Given the description of an element on the screen output the (x, y) to click on. 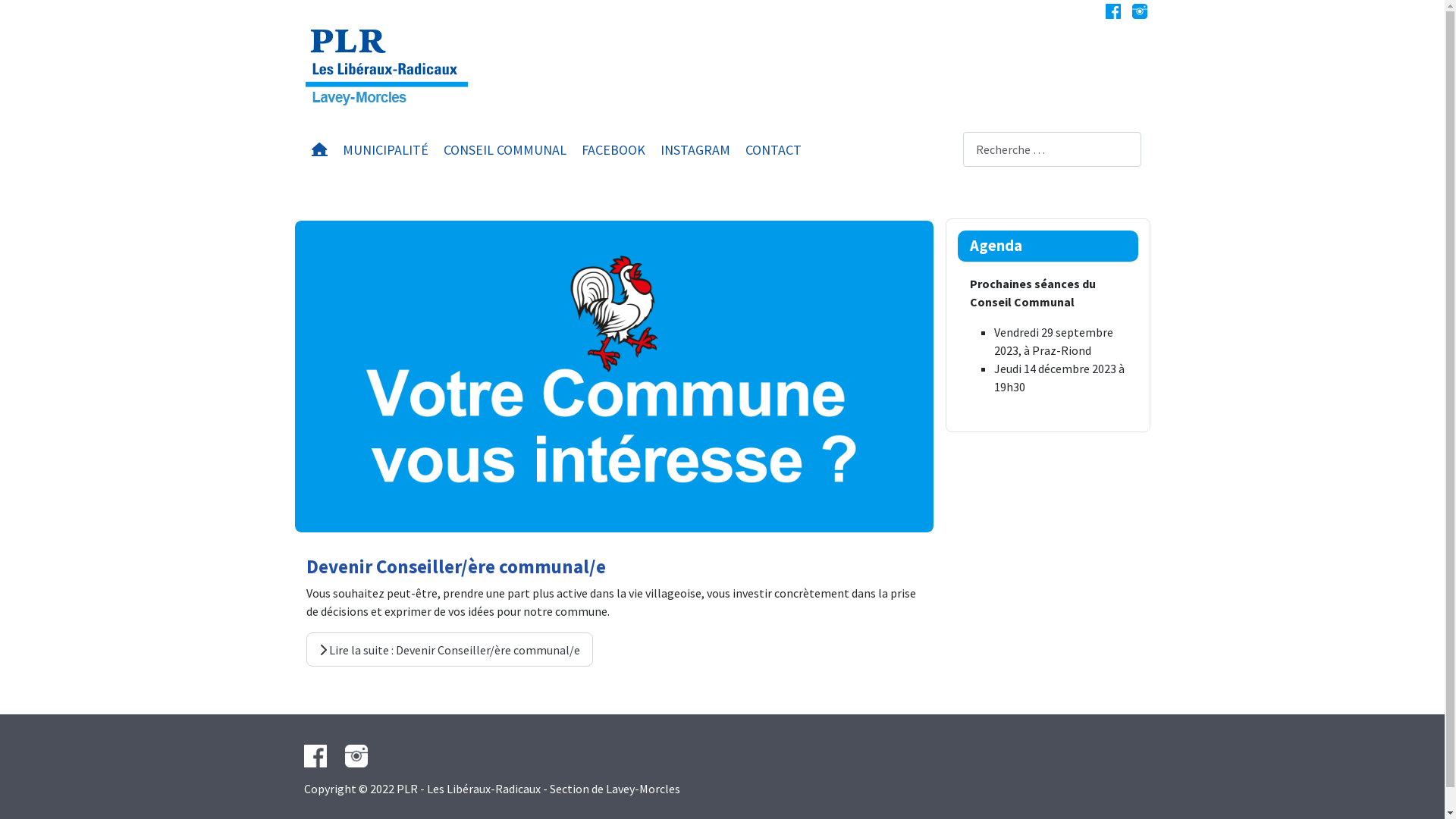
CONTACT Element type: text (772, 149)
Accueil Element type: hover (318, 149)
Instagram Element type: hover (348, 754)
FACEBOOK Element type: text (612, 149)
Instagram Element type: hover (1138, 10)
Facebook Element type: hover (314, 754)
INSTAGRAM Element type: text (694, 149)
       Element type: text (348, 754)
Facebook Element type: hover (1112, 10)
CONSEIL COMMUNAL Element type: text (503, 149)
